Given the description of an element on the screen output the (x, y) to click on. 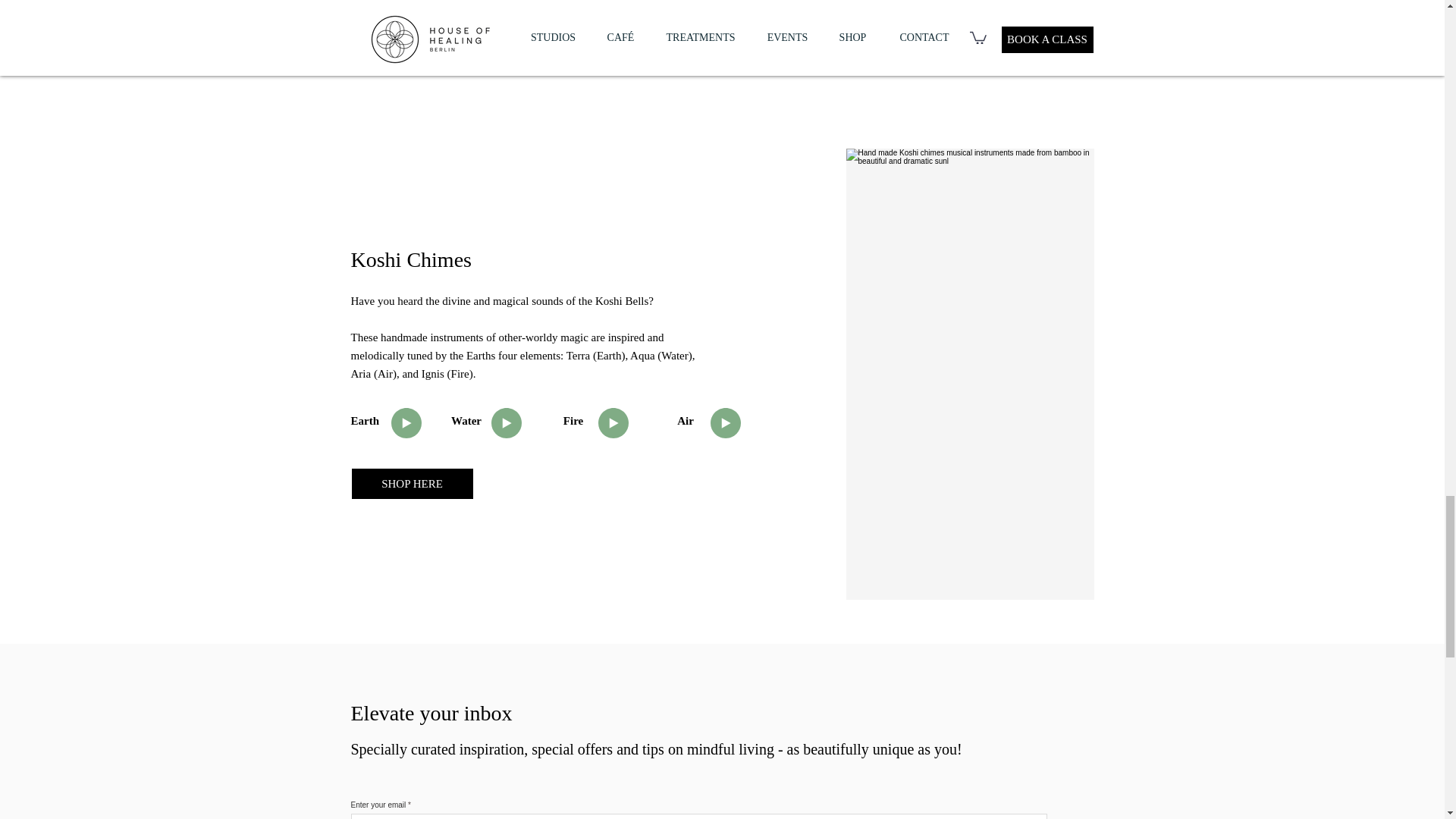
BOOK HERE (844, 27)
SHOP HERE (412, 483)
